Given the description of an element on the screen output the (x, y) to click on. 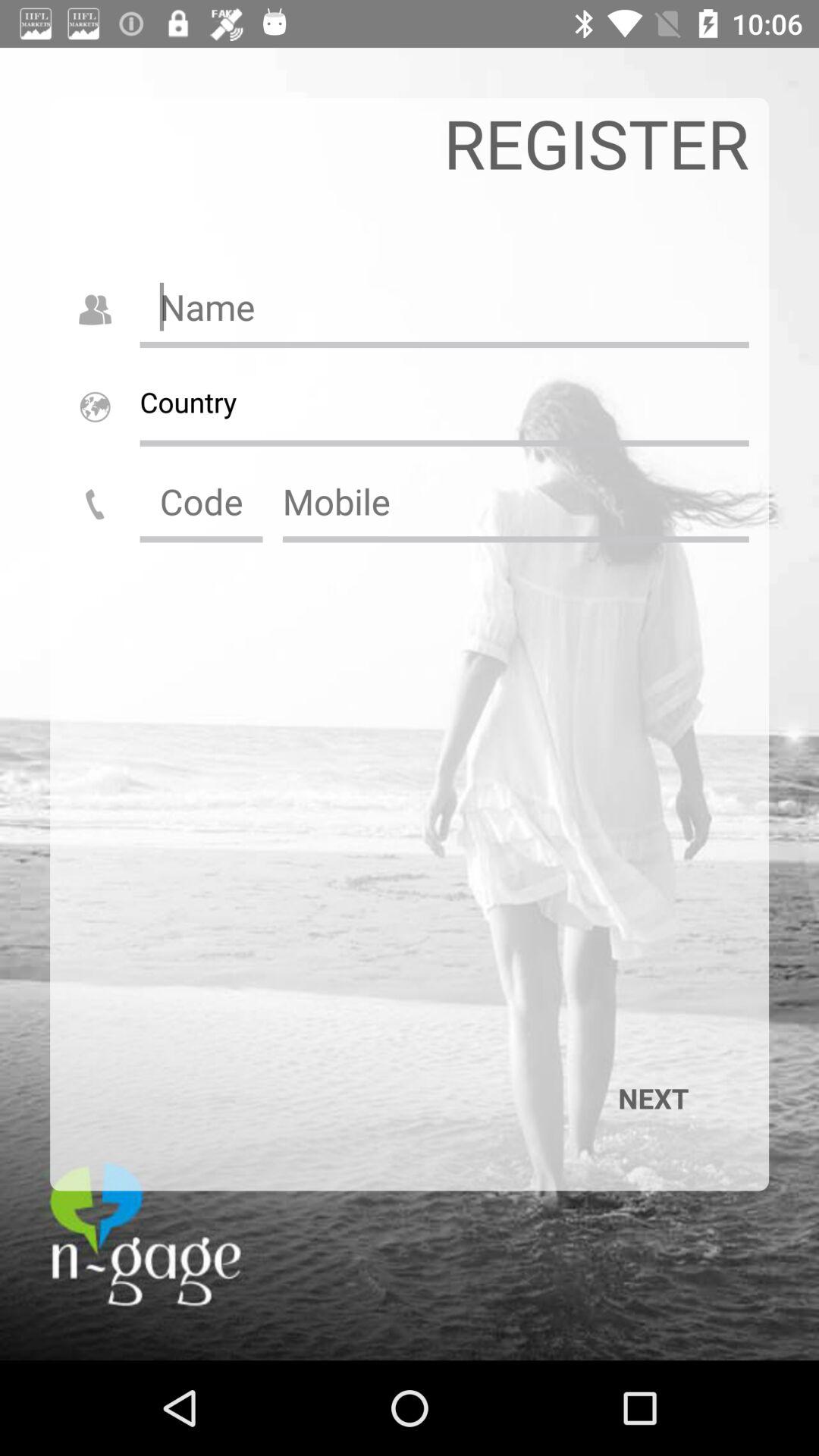
go to name box (444, 306)
